Given the description of an element on the screen output the (x, y) to click on. 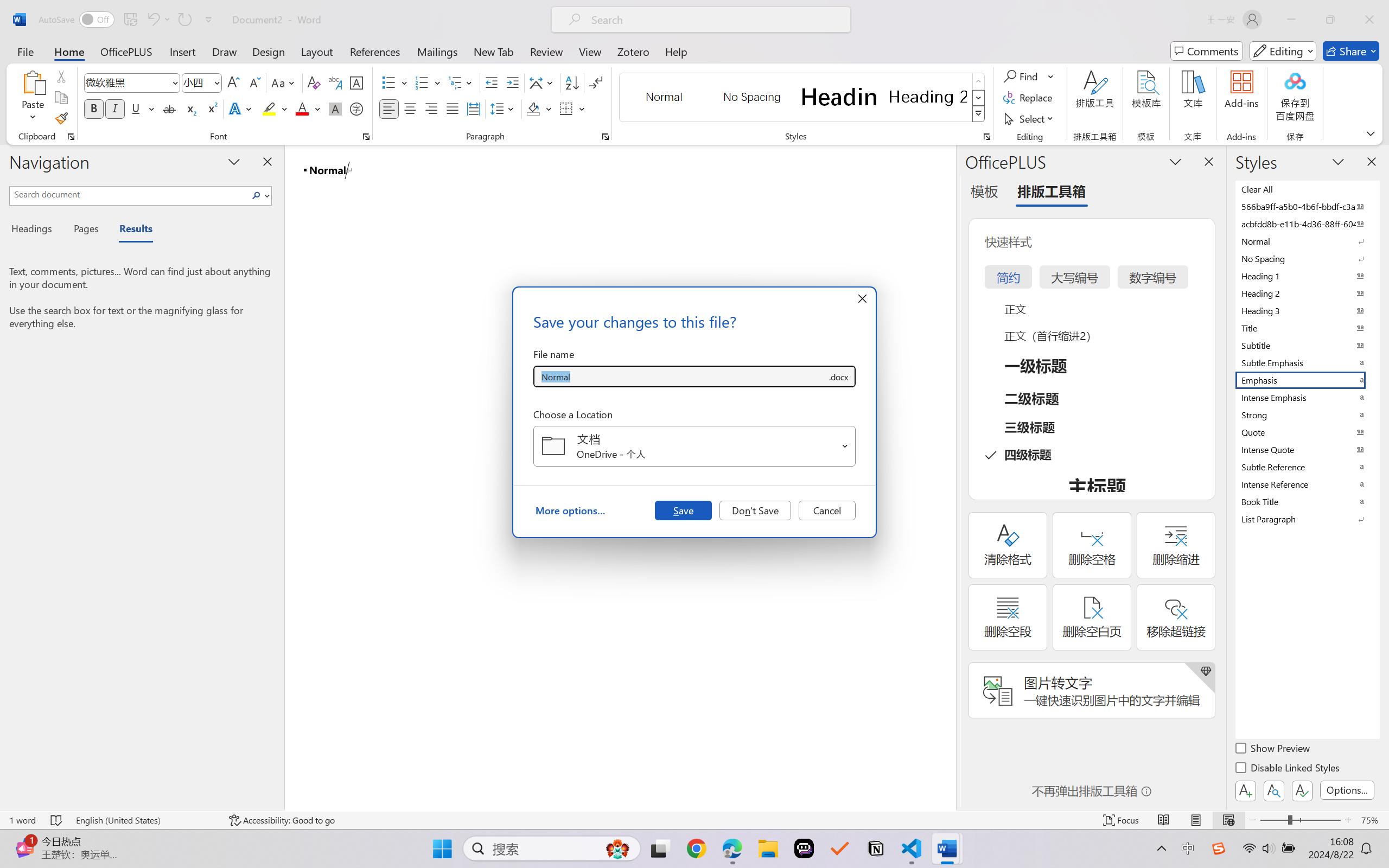
Help (675, 51)
Text Effects and Typography (241, 108)
Review (546, 51)
No Spacing (1306, 258)
Format Painter (60, 118)
Heading 1 (839, 96)
Select (1030, 118)
Subtle Reference (1306, 466)
Office Clipboard... (70, 136)
Cancel (826, 509)
Insert (182, 51)
Font Color Red (302, 108)
